Given the description of an element on the screen output the (x, y) to click on. 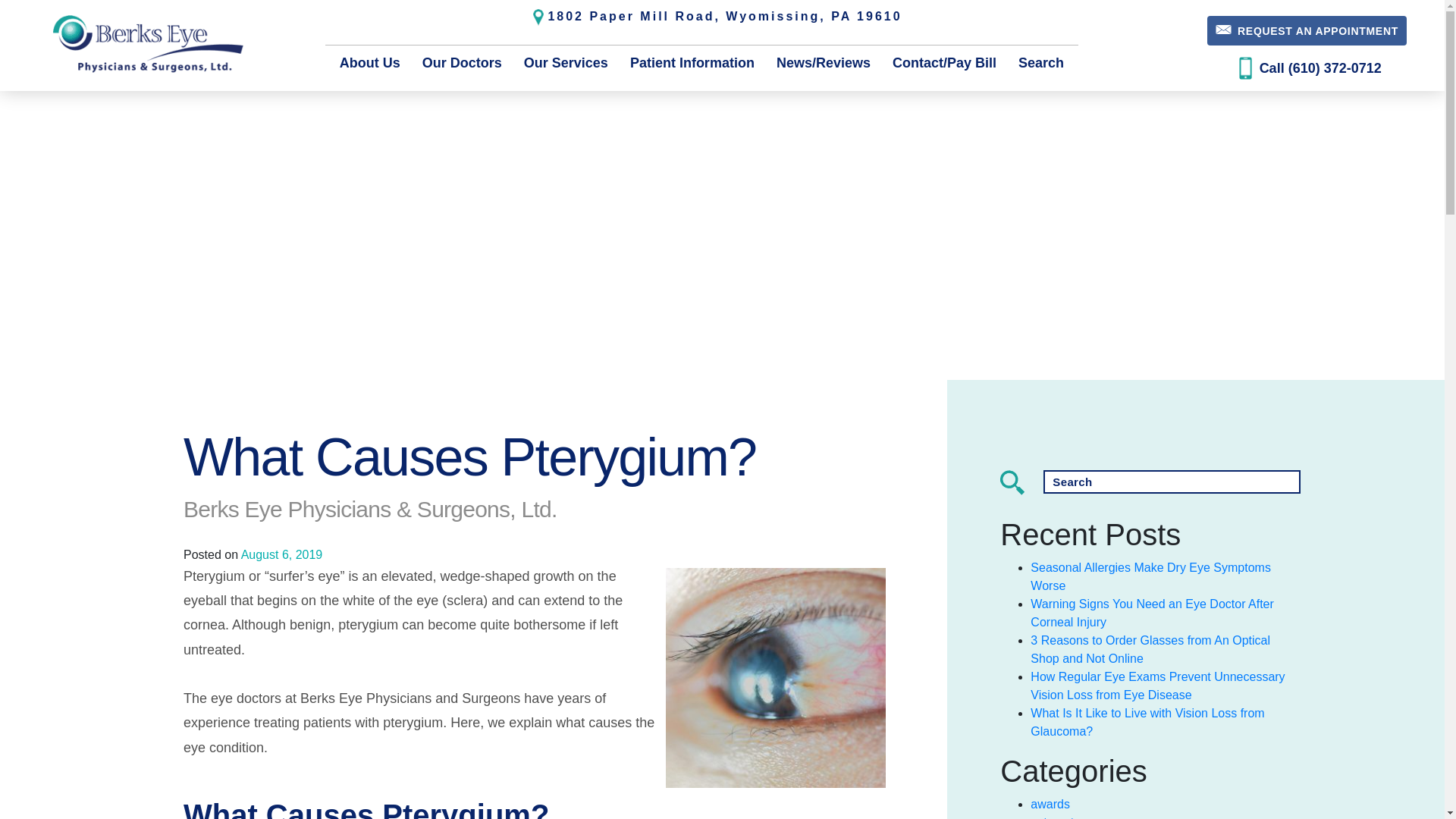
What causes pterygium Reading PA (775, 677)
About Us (369, 63)
1802 Paper Mill Road, Wyomissing, PA 19610 (716, 15)
Our Doctors (462, 63)
Our Services (566, 63)
REQUEST AN APPOINTMENT (1306, 30)
